Given the description of an element on the screen output the (x, y) to click on. 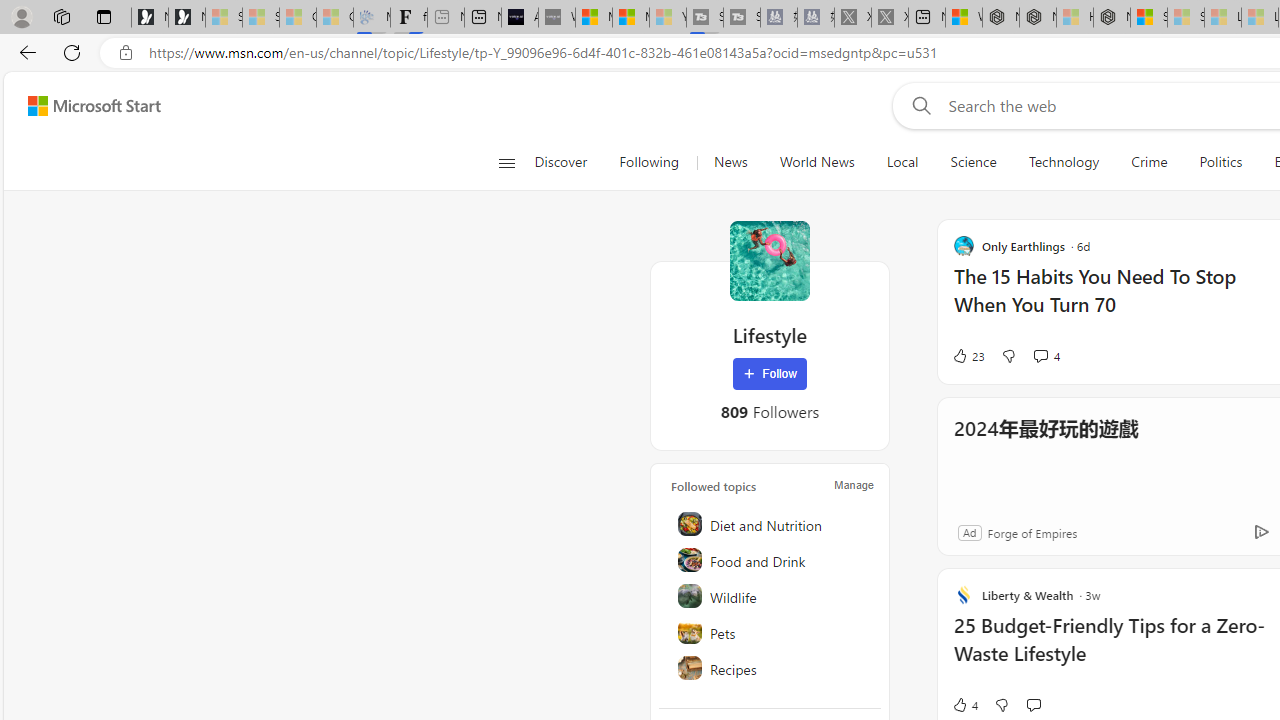
Politics (1220, 162)
Forge of Empires (1031, 532)
Wildlife (771, 596)
Technology (1063, 162)
World News (816, 162)
World News (817, 162)
Following (648, 162)
Lifestyle (769, 260)
X - Sleeping (889, 17)
News (729, 162)
Local (902, 162)
Start the conversation (1033, 704)
